Given the description of an element on the screen output the (x, y) to click on. 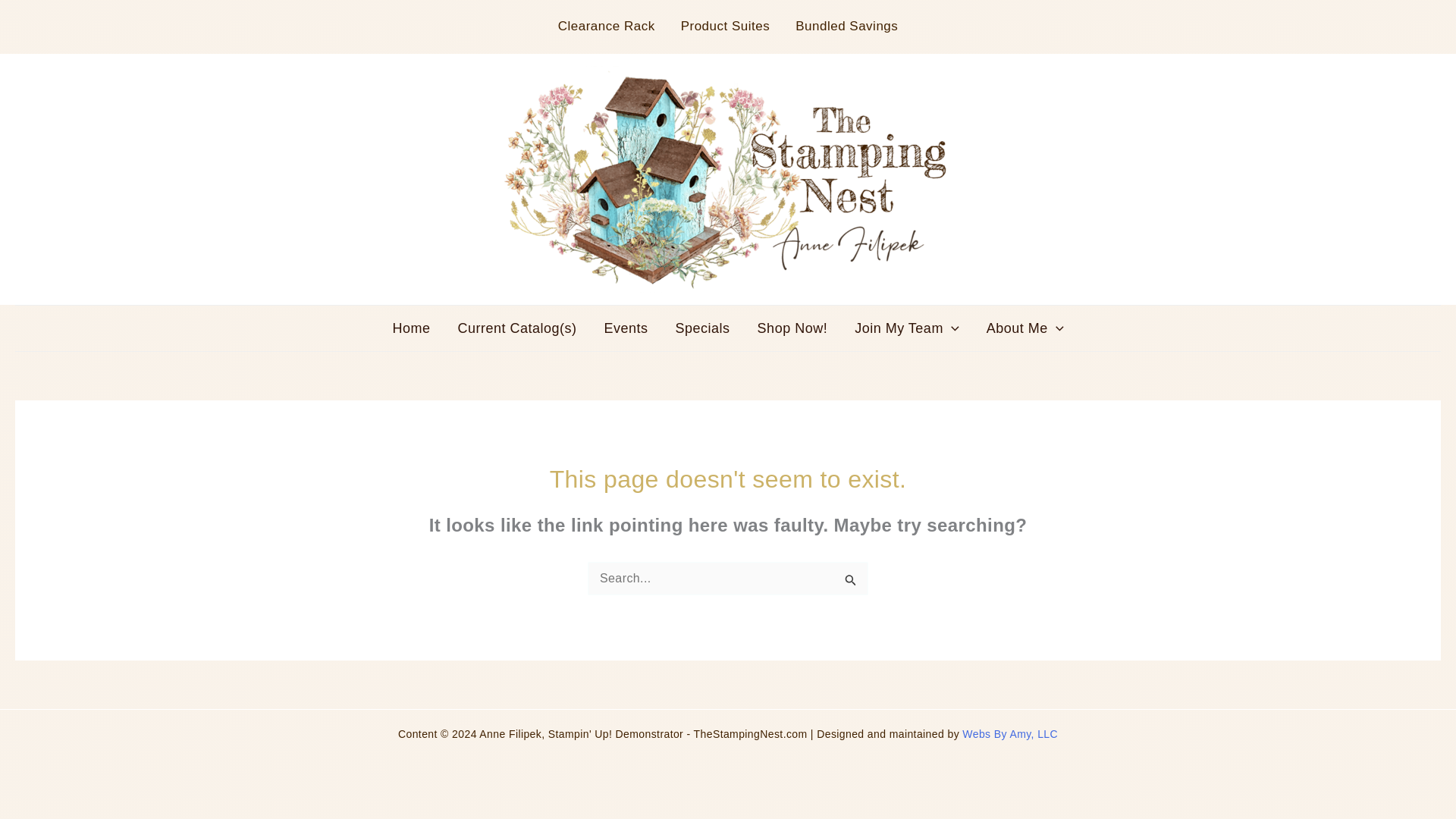
Bundled Savings (847, 26)
About Me (1024, 328)
Home (411, 328)
Shop Now! (792, 328)
Events (626, 328)
Webs By Amy, LLC (1010, 734)
Specials (703, 328)
Join My Team (906, 328)
Product Suites (725, 26)
Clearance Rack (606, 26)
